Given the description of an element on the screen output the (x, y) to click on. 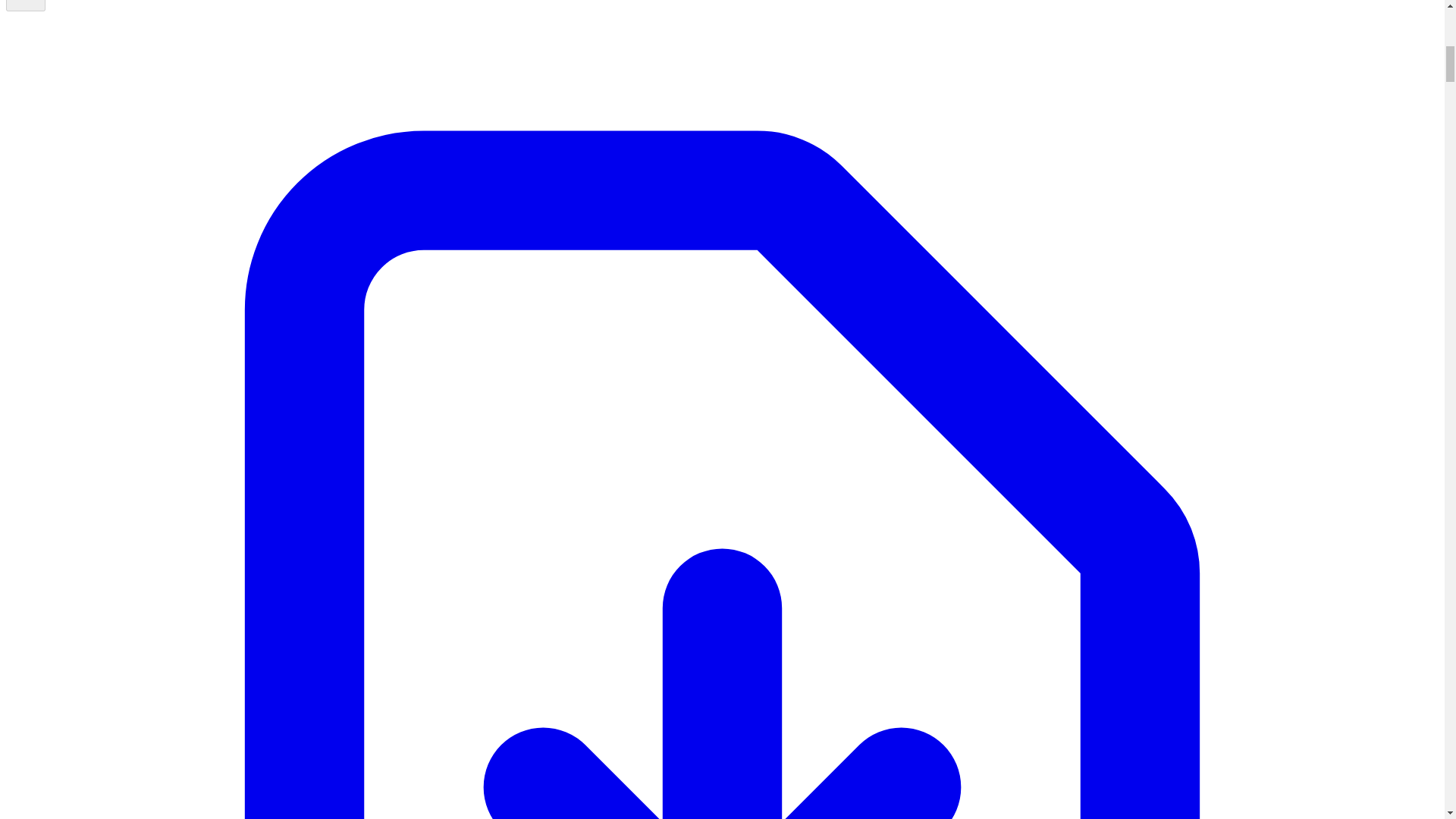
Share (25, 5)
